Given the description of an element on the screen output the (x, y) to click on. 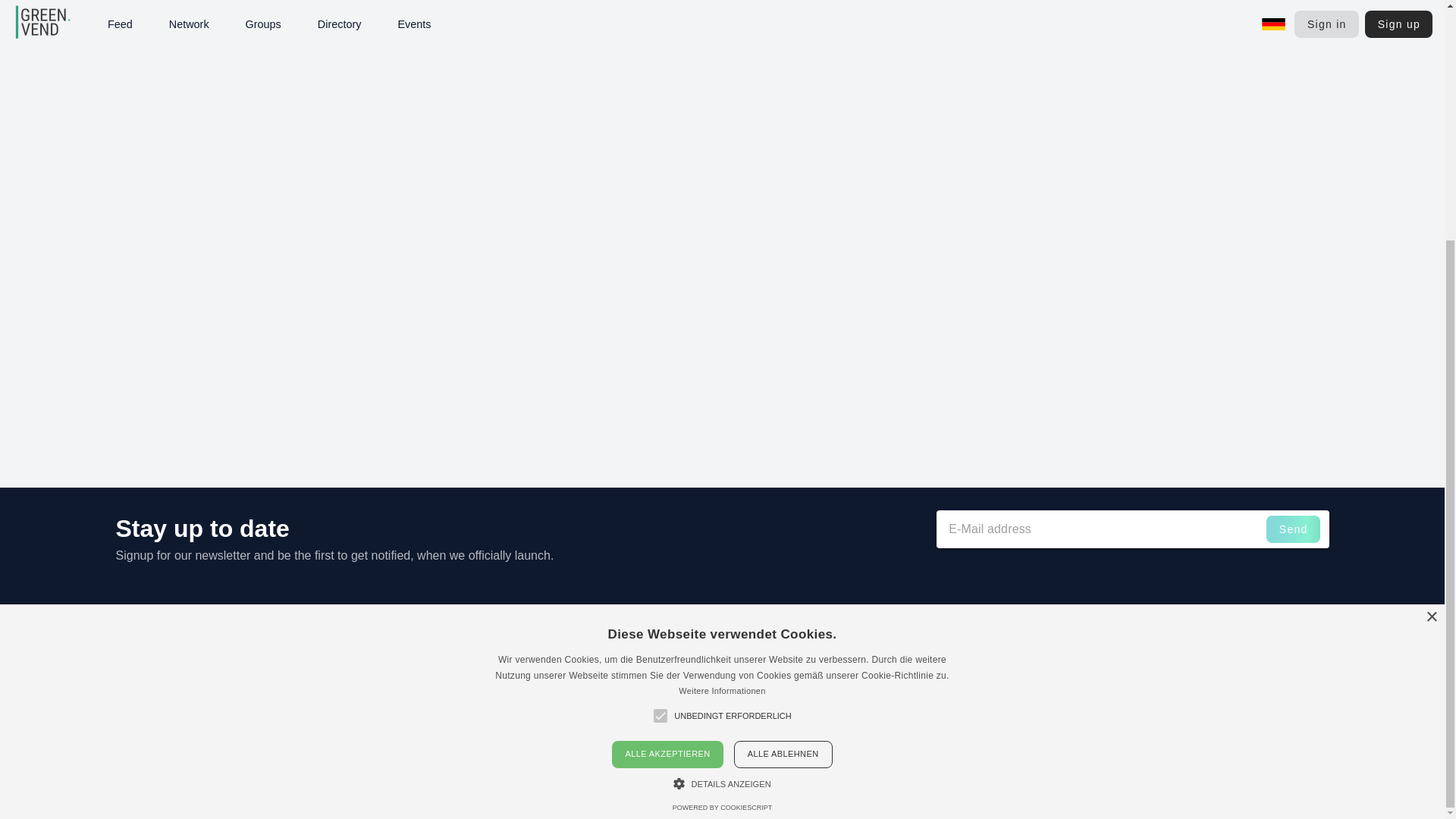
Weitere Informationen (721, 358)
Home (1122, 636)
Directory (1128, 690)
POWERED BY COOKIESCRIPT (721, 475)
Consent Management Platform (721, 475)
Imprint (1238, 636)
Events (1124, 672)
Blog (1119, 727)
Send (1293, 528)
Privacy (1239, 672)
